Given the description of an element on the screen output the (x, y) to click on. 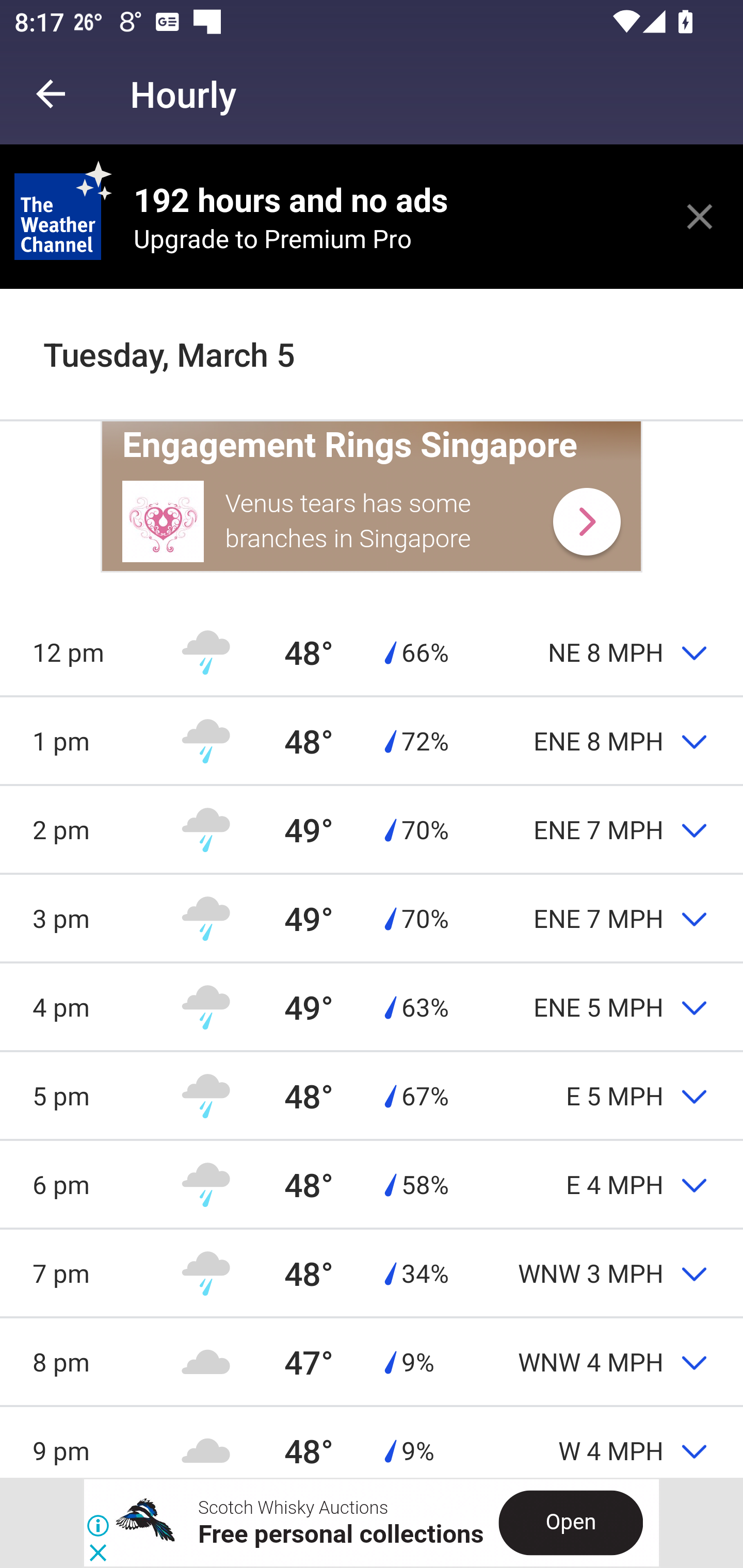
Navigate up (50, 93)
close this (699, 216)
venus-tears (371, 349)
Engagement Rings Singapore (349, 444)
venus-tears (163, 520)
venus-tears (586, 521)
12 pm 48° 66% NE 8 MPH (371, 651)
1 pm 48° 72% ENE 8 MPH (371, 740)
2 pm 49° 70% ENE 7 MPH (371, 829)
3 pm 49° 70% ENE 7 MPH (371, 917)
4 pm 49° 63% ENE 5 MPH (371, 1006)
5 pm 48° 67% E 5 MPH (371, 1095)
6 pm 48° 58% E 4 MPH (371, 1184)
7 pm 48° 34% WNW 3 MPH (371, 1272)
8 pm 47° 9% WNW 4 MPH (371, 1361)
9 pm 48° 9% W 4 MPH (371, 1441)
